Given the description of an element on the screen output the (x, y) to click on. 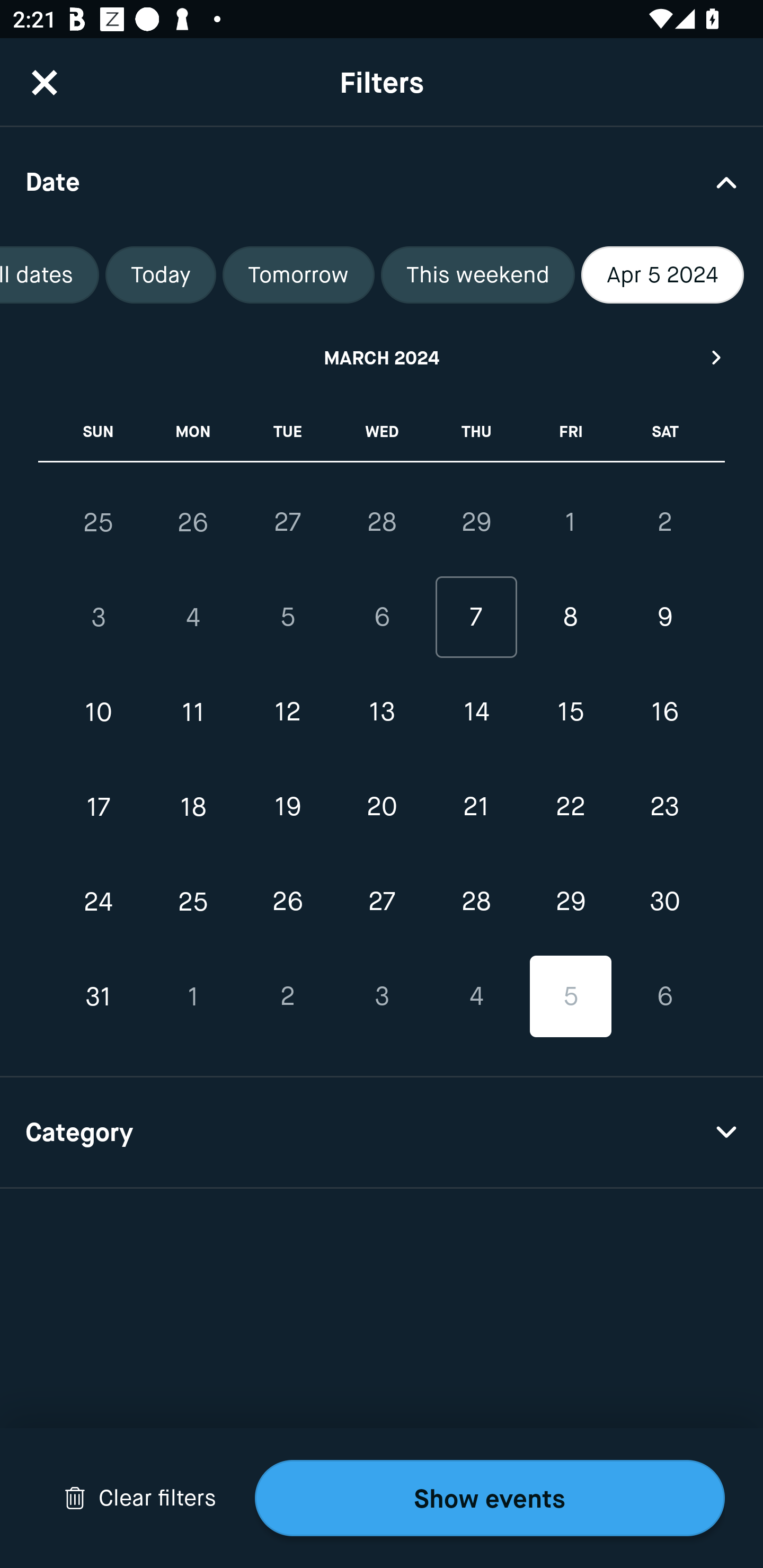
CloseButton (44, 82)
Date Drop Down Arrow (381, 181)
All dates (49, 274)
Today (160, 274)
Tomorrow (298, 274)
This weekend (477, 274)
Apr 5 2024 (662, 274)
Next (717, 357)
25 (98, 522)
26 (192, 522)
27 (287, 522)
28 (381, 522)
29 (475, 522)
1 (570, 522)
2 (664, 522)
3 (98, 617)
4 (192, 617)
5 (287, 617)
6 (381, 617)
7 (475, 617)
8 (570, 617)
9 (664, 617)
10 (98, 711)
11 (192, 711)
12 (287, 711)
13 (381, 711)
14 (475, 711)
15 (570, 711)
16 (664, 711)
17 (98, 806)
18 (192, 806)
19 (287, 806)
20 (381, 806)
21 (475, 806)
22 (570, 806)
23 (664, 806)
24 (98, 901)
25 (192, 901)
26 (287, 901)
27 (381, 901)
28 (475, 901)
29 (570, 901)
30 (664, 901)
31 (98, 996)
1 (192, 996)
2 (287, 996)
3 (381, 996)
4 (475, 996)
5 (570, 996)
6 (664, 996)
Category Drop Down Arrow (381, 1132)
Drop Down Arrow Clear filters (139, 1497)
Show events (489, 1497)
